Given the description of an element on the screen output the (x, y) to click on. 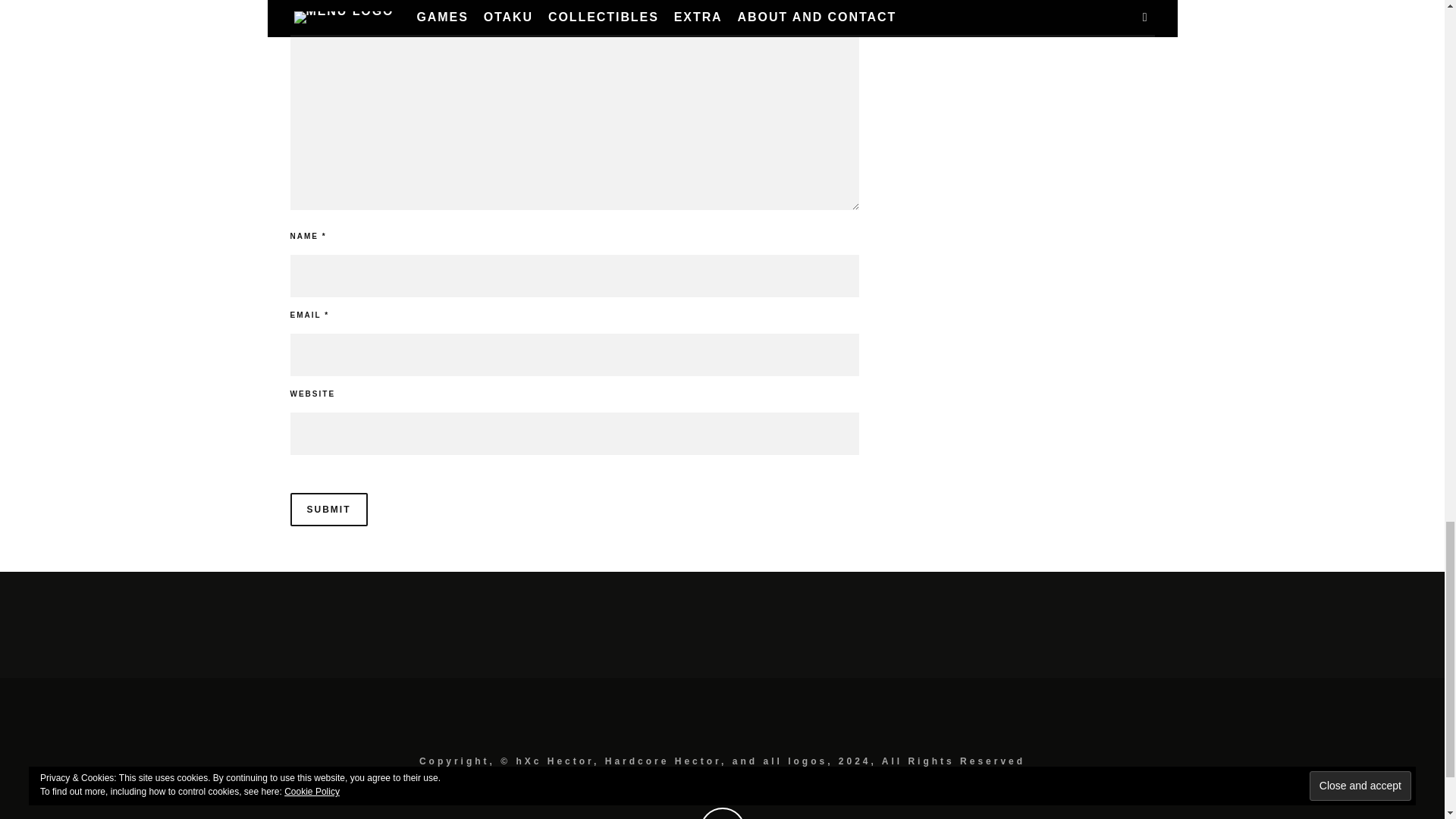
Submit (327, 509)
